Given the description of an element on the screen output the (x, y) to click on. 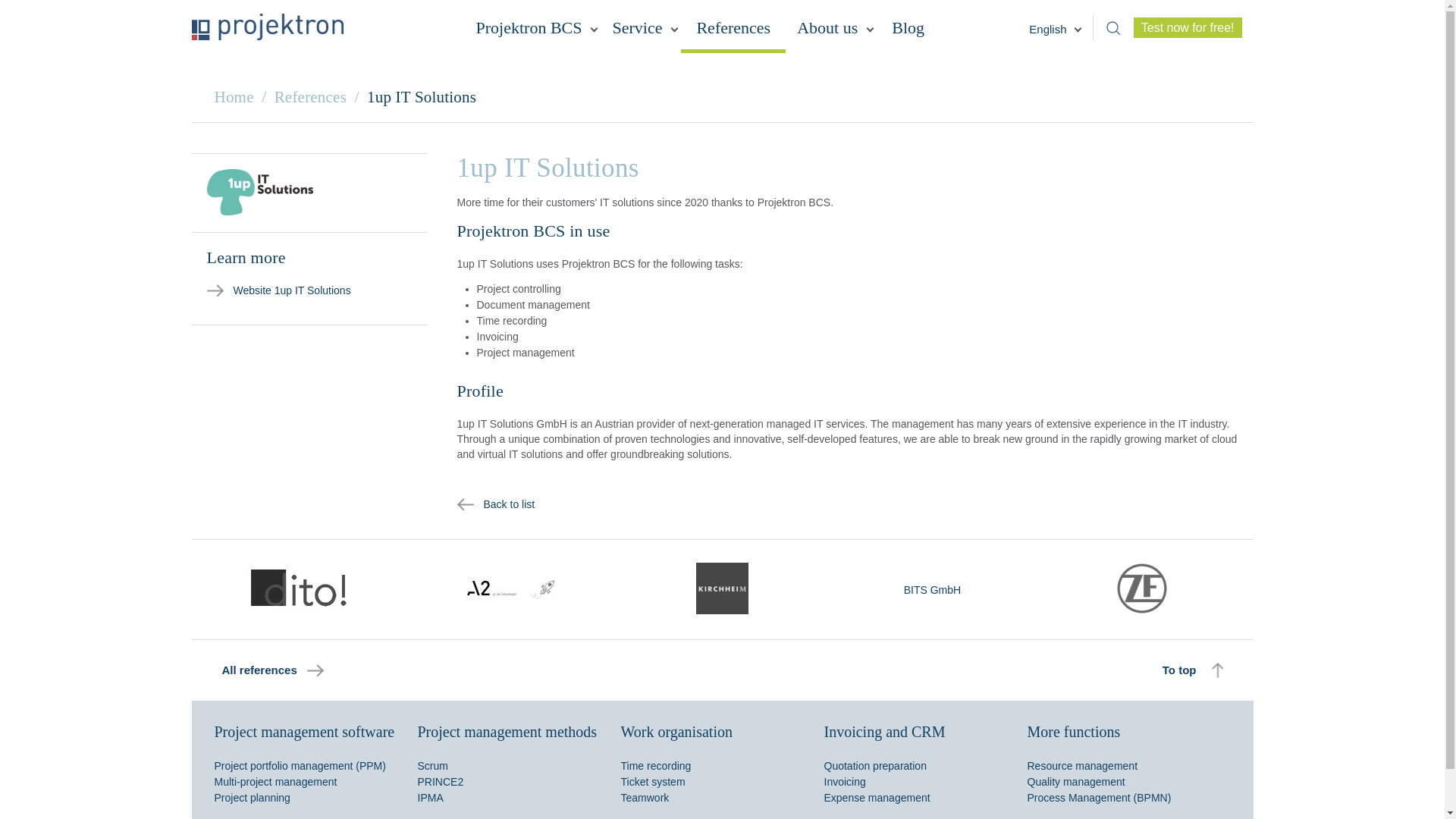
Time recording (655, 766)
1up IT Solutions (259, 191)
Test now for free! (1187, 26)
Projektron - Reduce costs. Meet deadlines. Achieve goals. (266, 26)
PRINCE2 (439, 781)
Teamwork (644, 797)
Invoicing (844, 781)
Multi-project management (275, 781)
Expense management (877, 797)
IPMA (429, 797)
Project planning (251, 797)
Projektron BCS (531, 31)
Resource management (1081, 766)
Scrum (431, 766)
Ticket system (652, 781)
